Given the description of an element on the screen output the (x, y) to click on. 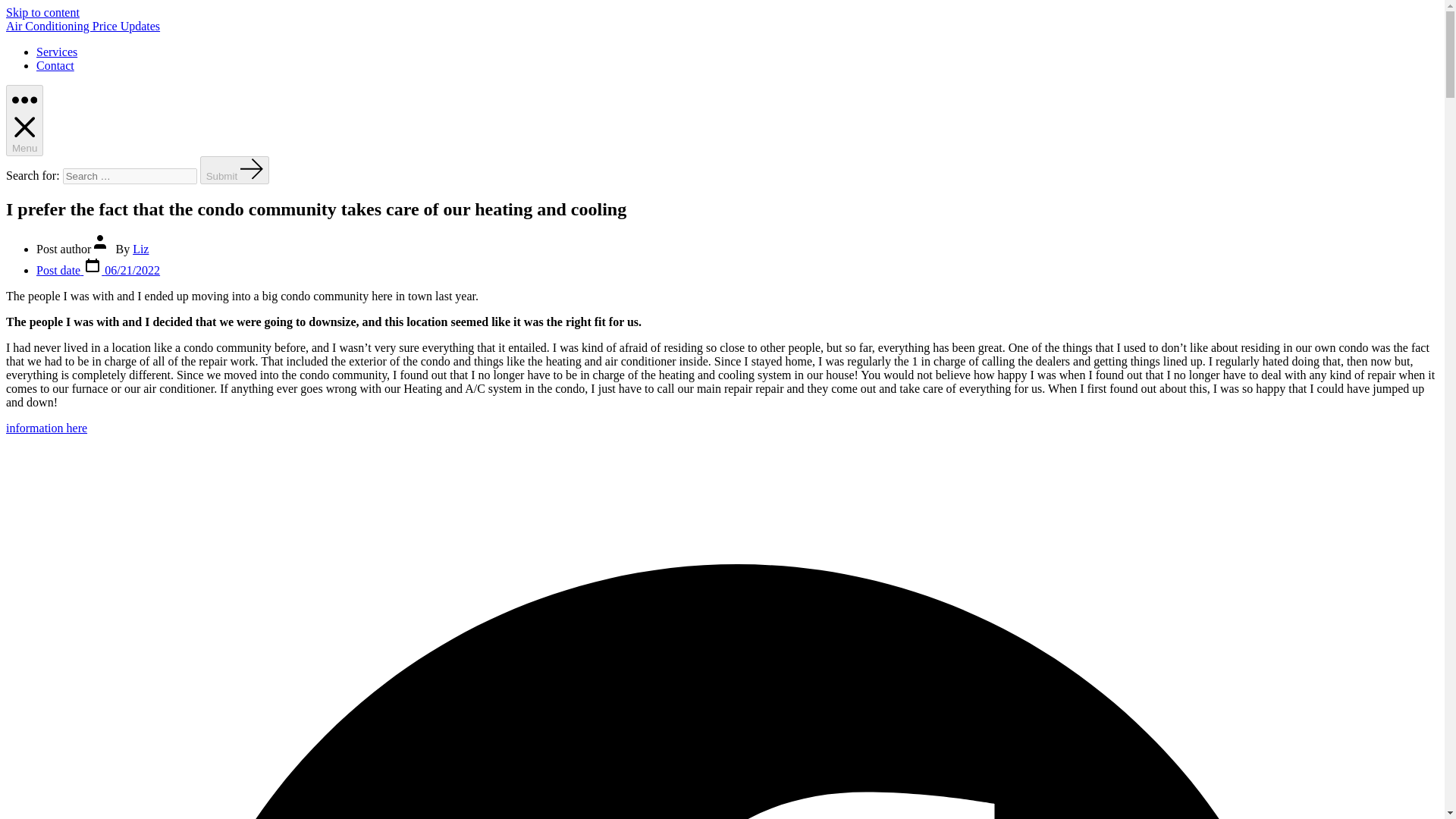
Submit (234, 170)
Contact (55, 65)
Services (56, 51)
Menu (24, 120)
Skip to content (42, 11)
Air Conditioning Price Updates (82, 25)
Liz (140, 248)
information here (46, 427)
